Given the description of an element on the screen output the (x, y) to click on. 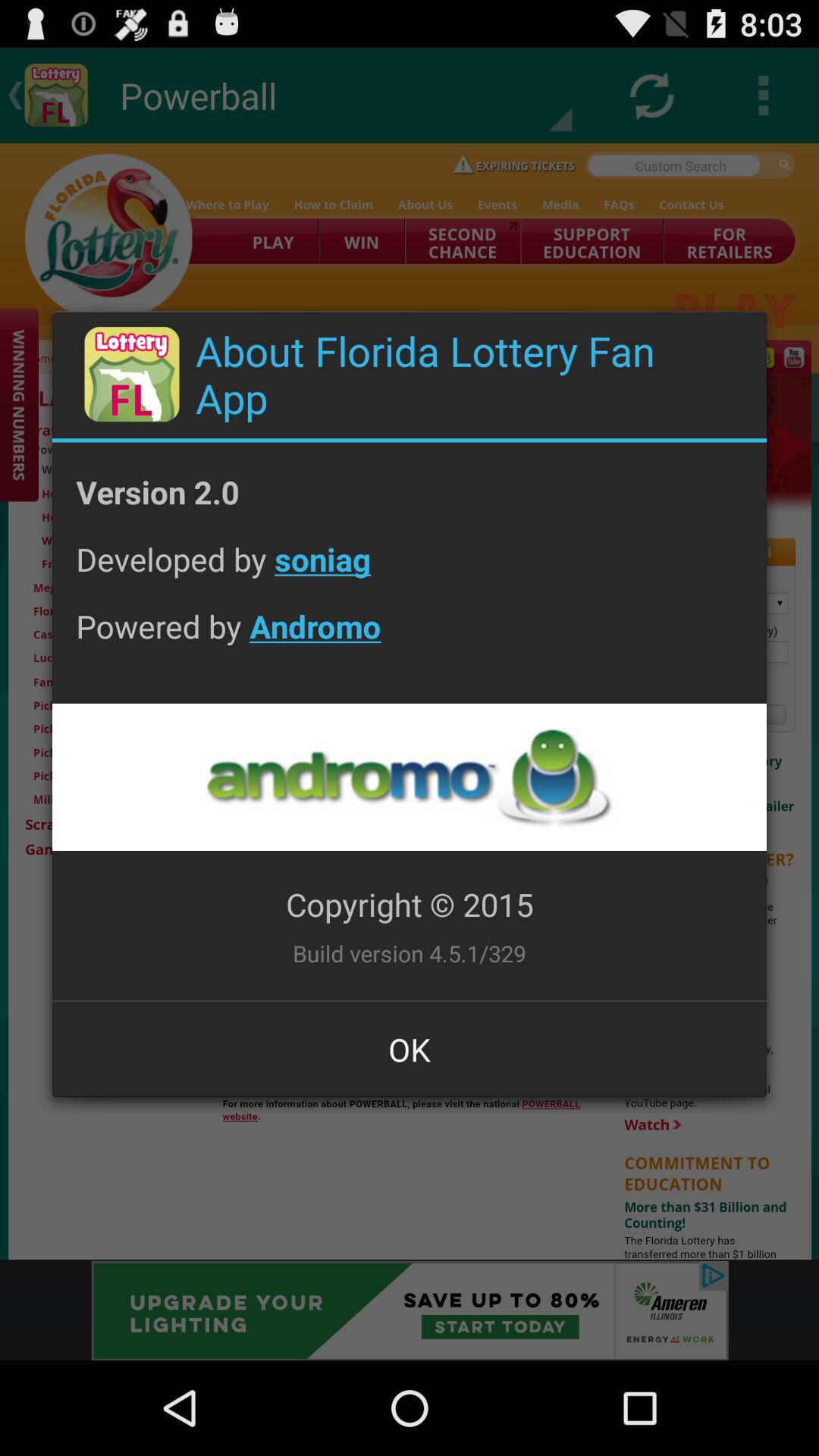
designer profile page (408, 776)
